Given the description of an element on the screen output the (x, y) to click on. 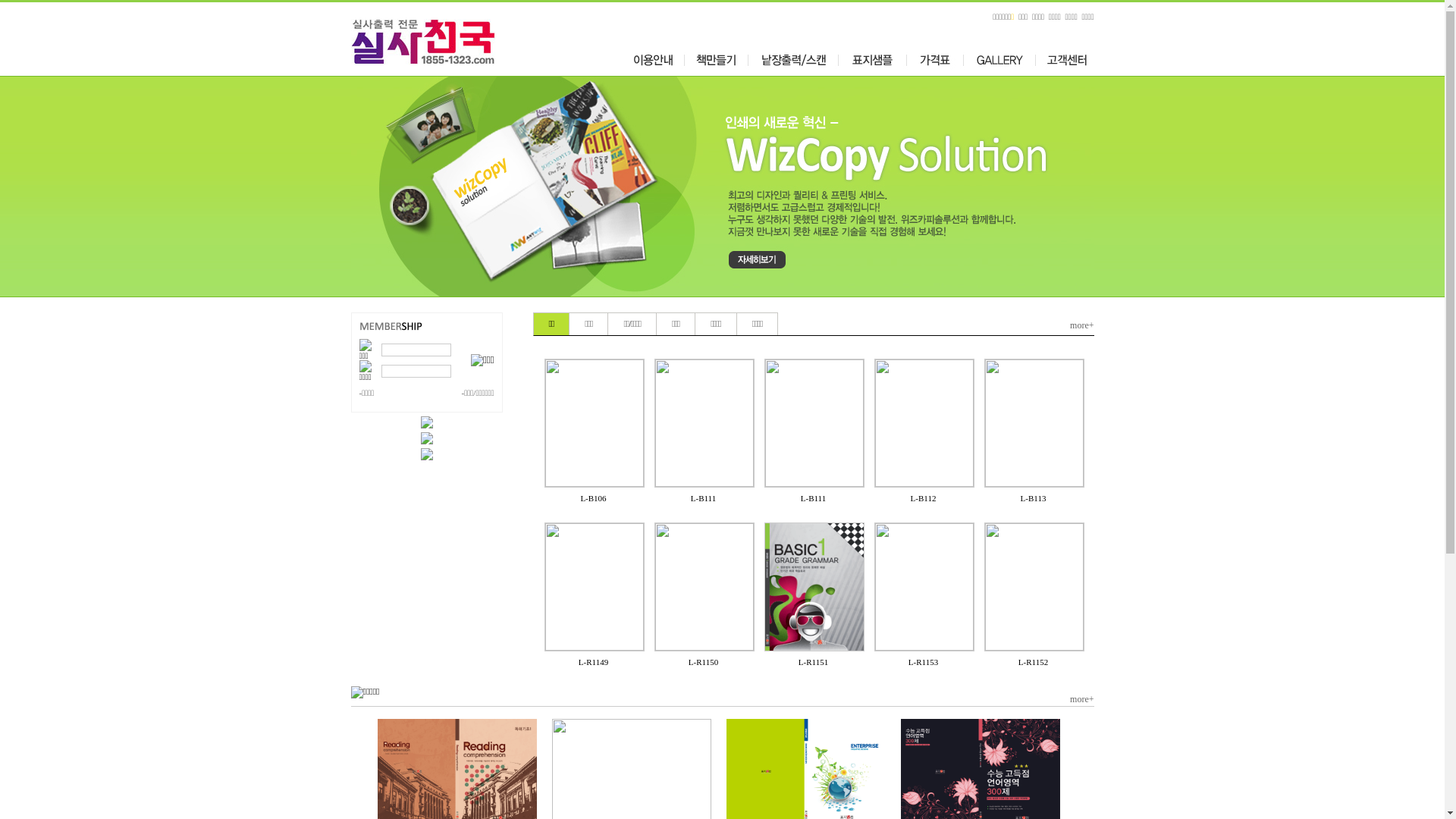
more+ Element type: text (1081, 325)
more+ Element type: text (1081, 699)
